Given the description of an element on the screen output the (x, y) to click on. 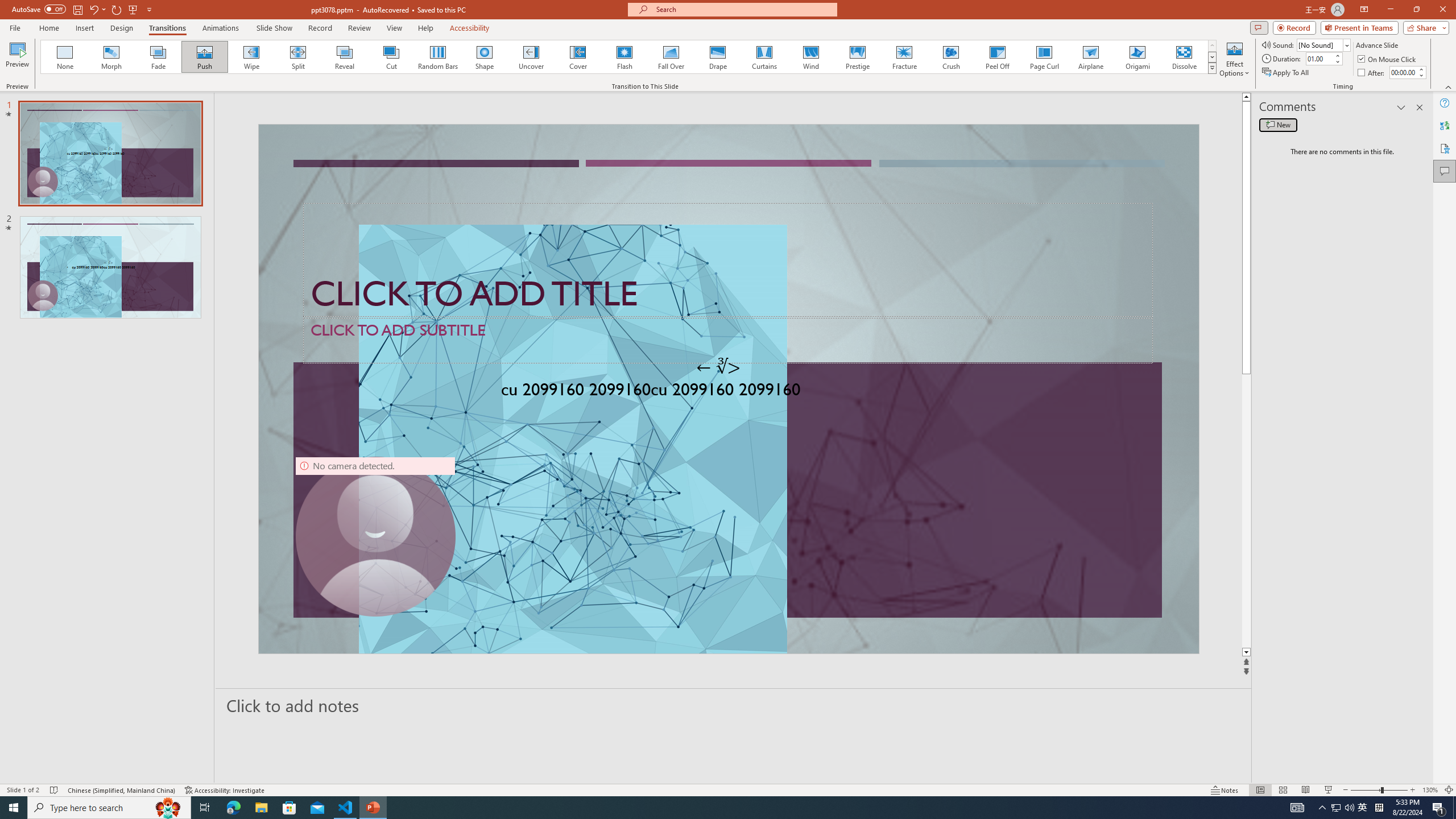
Uncover (531, 56)
Fade (158, 56)
